Given the description of an element on the screen output the (x, y) to click on. 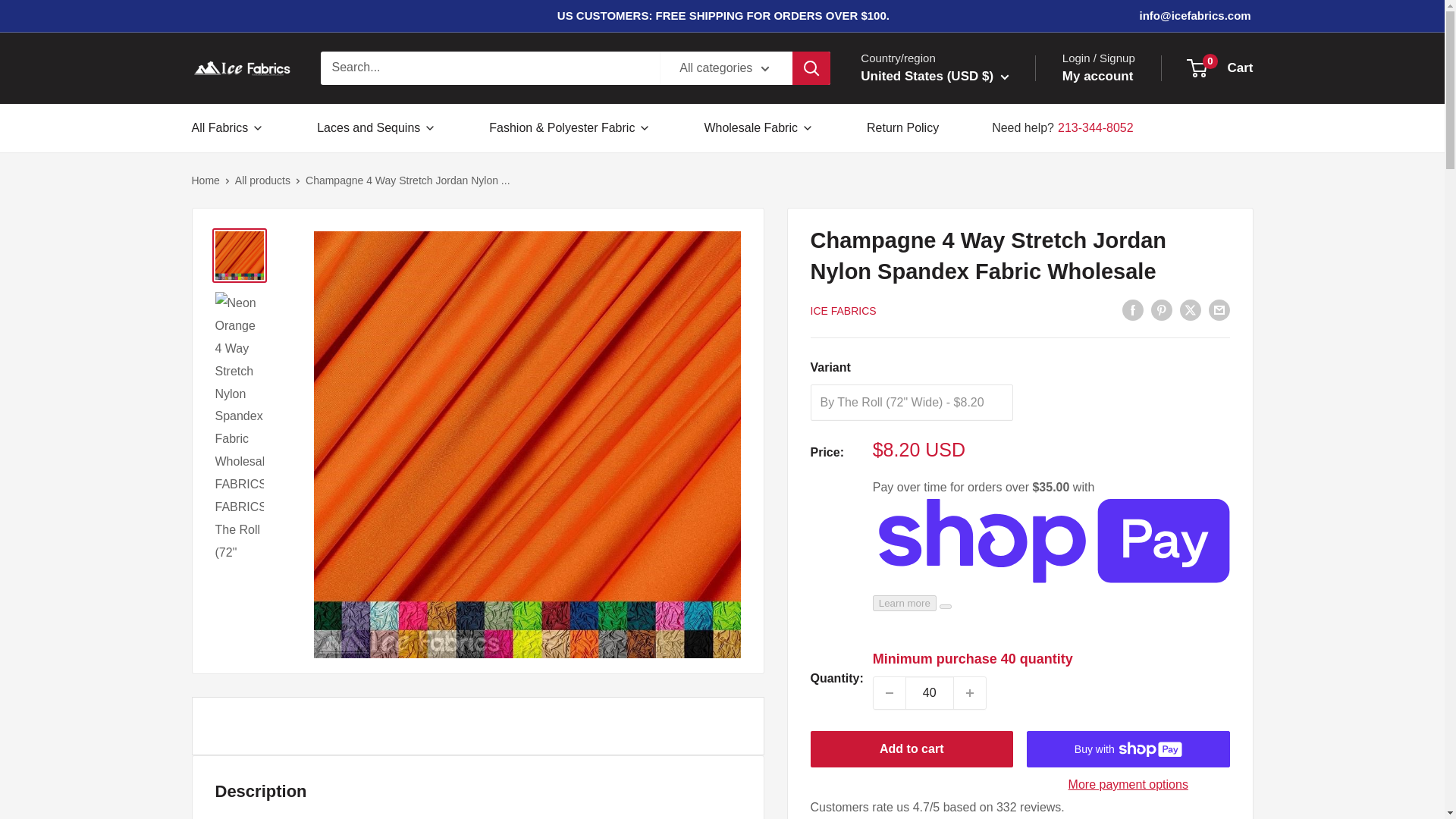
Decrease quantity by 1 (889, 693)
Increase quantity by 1 (969, 693)
40 (929, 693)
